Given the description of an element on the screen output the (x, y) to click on. 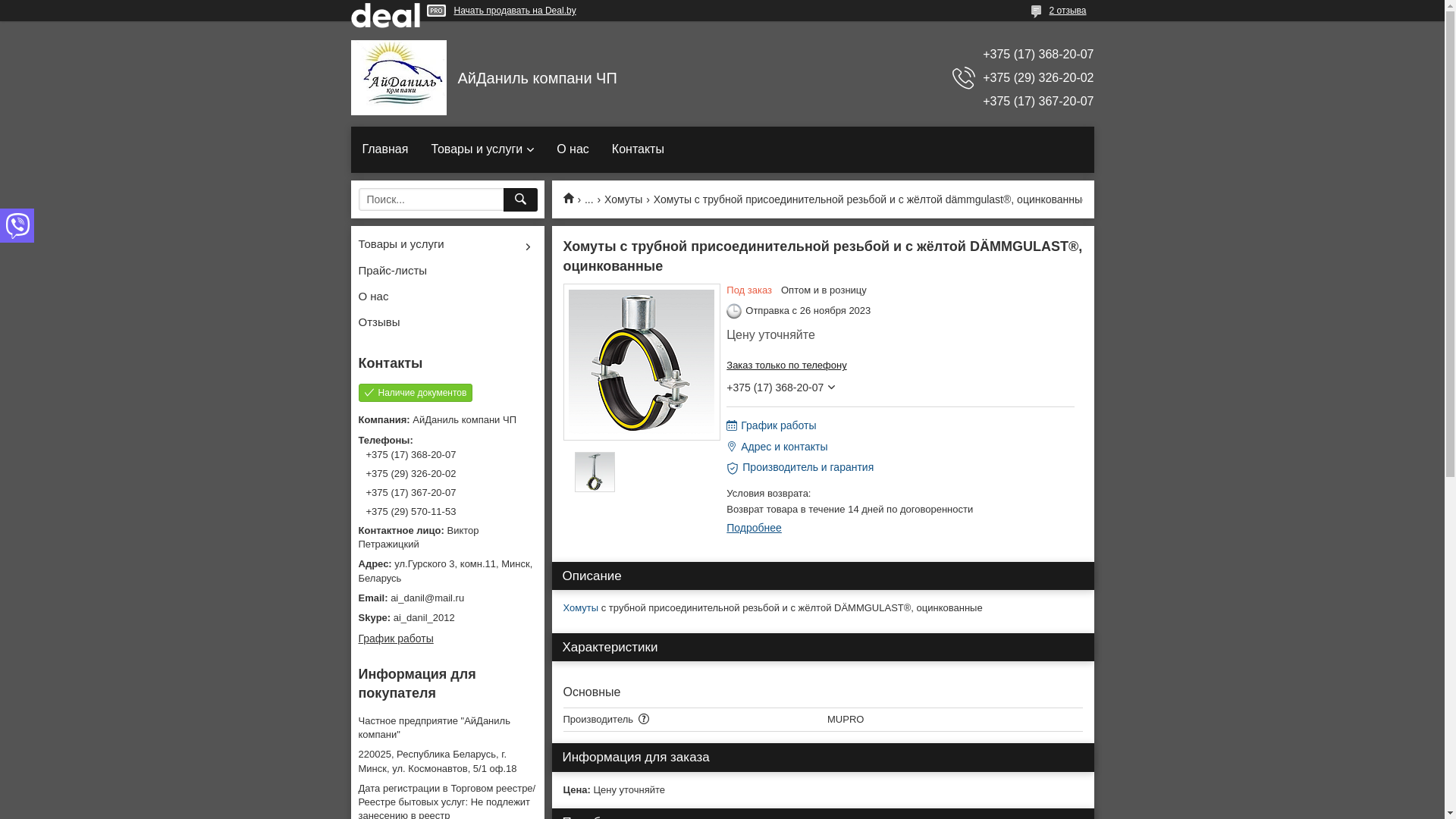
ai_danil@mail.ru Element type: text (446, 598)
